Given the description of an element on the screen output the (x, y) to click on. 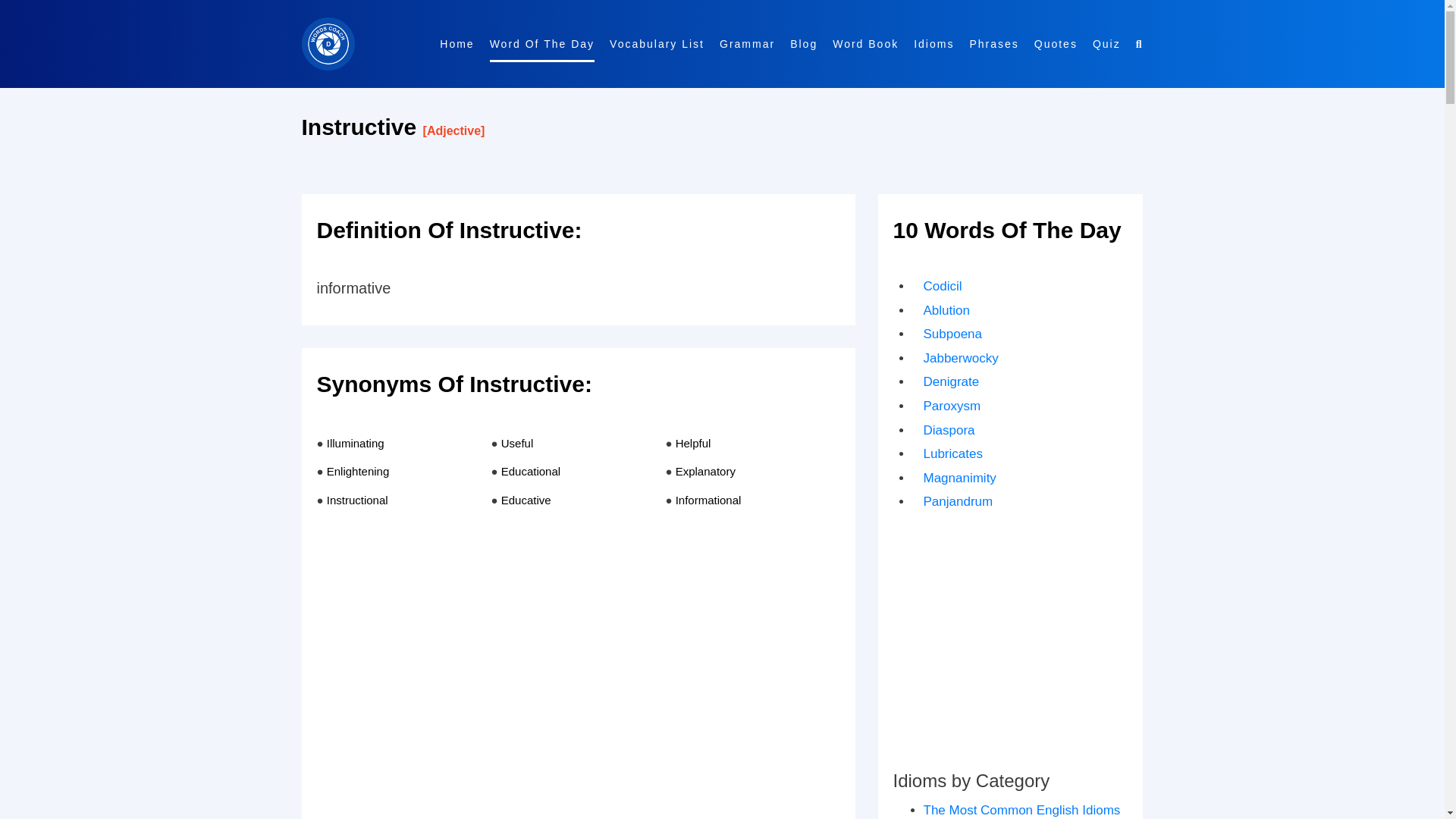
Paroxysm (952, 405)
Magnanimity (959, 477)
Ablution (946, 310)
Quotes (1055, 43)
wordscoach.com: vocabulary builder (328, 43)
Quote Of The Day: Word coach (1055, 43)
Educative (525, 499)
Idioms (933, 43)
Codicil (942, 286)
Helpful (693, 442)
